Given the description of an element on the screen output the (x, y) to click on. 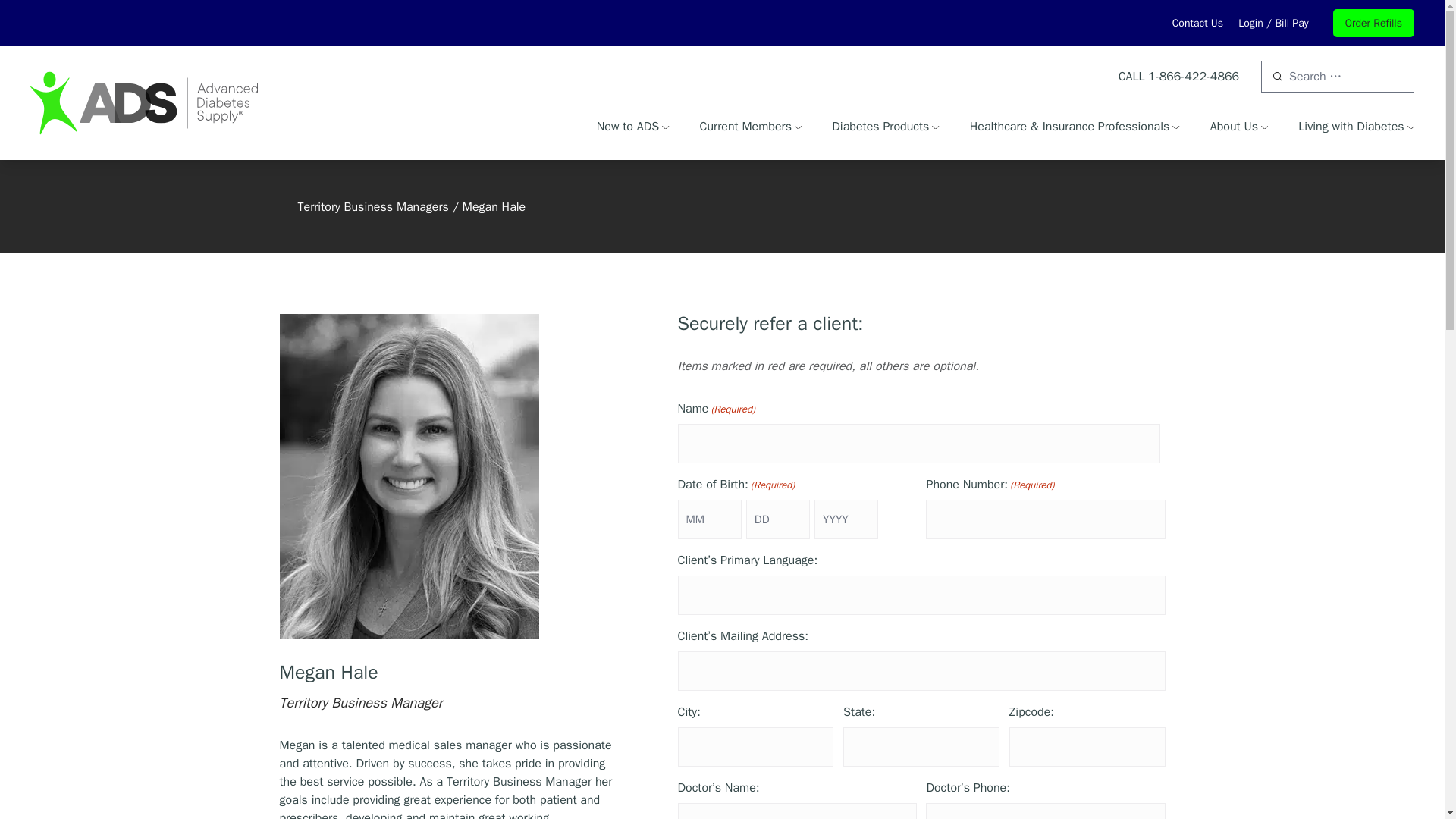
Contact Us (1197, 22)
Order Refills (1373, 22)
1-866-422-4866 (1193, 76)
About Us (1238, 126)
Homepage (143, 102)
Search (18, 9)
Getting started is easy  (632, 126)
Order Refills (1373, 22)
Phone (1193, 76)
New to ADS (632, 126)
